Given the description of an element on the screen output the (x, y) to click on. 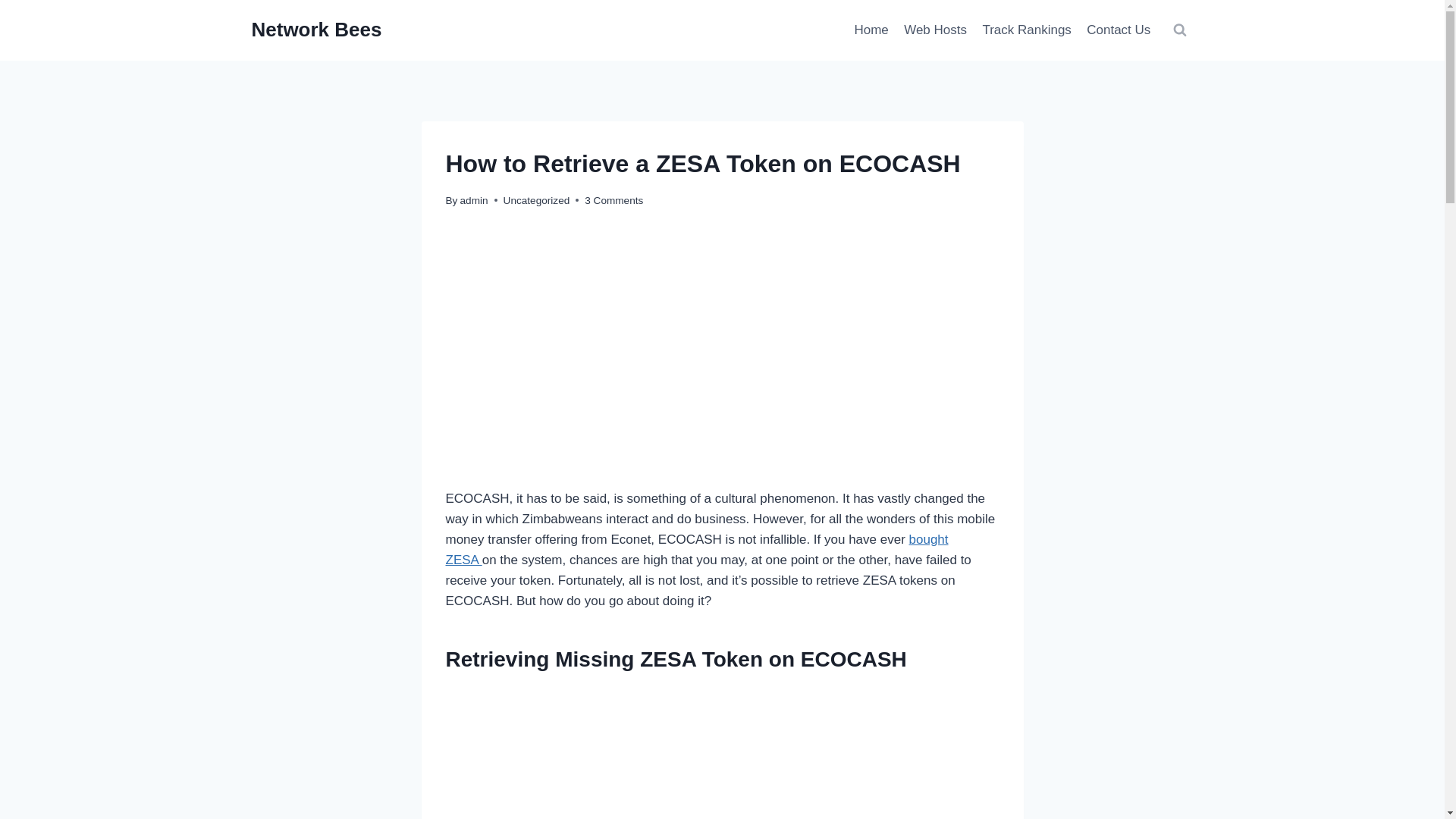
Web Hosts (935, 30)
Contact Us (1117, 30)
Uncategorized (536, 200)
3 Comments (614, 200)
Home (870, 30)
bought ZESA  (697, 549)
Network Bees (316, 29)
Track Rankings (1026, 30)
admin (473, 200)
3 Comments (614, 200)
